Given the description of an element on the screen output the (x, y) to click on. 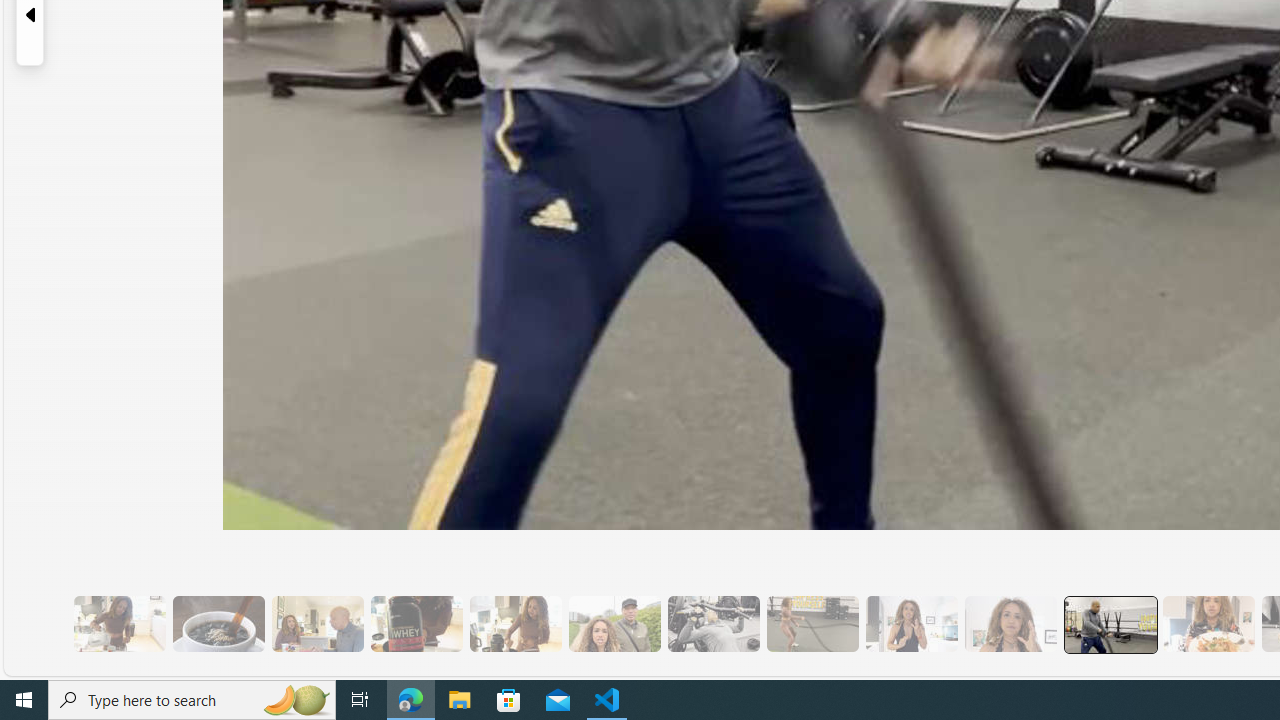
8 Be Mindful of Coffee (217, 624)
8 They Walk to the Gym (614, 624)
See more (1086, 660)
3 They Drink Lemon Tea (119, 624)
8 They Walk to the Gym (614, 624)
10 Then, They Do HIIT Cardio (811, 624)
14 They Have Salmon and Veggies for Dinner (1208, 624)
7 They Don't Skip Meals (514, 624)
9 They Do Bench Exercises (713, 624)
